Given the description of an element on the screen output the (x, y) to click on. 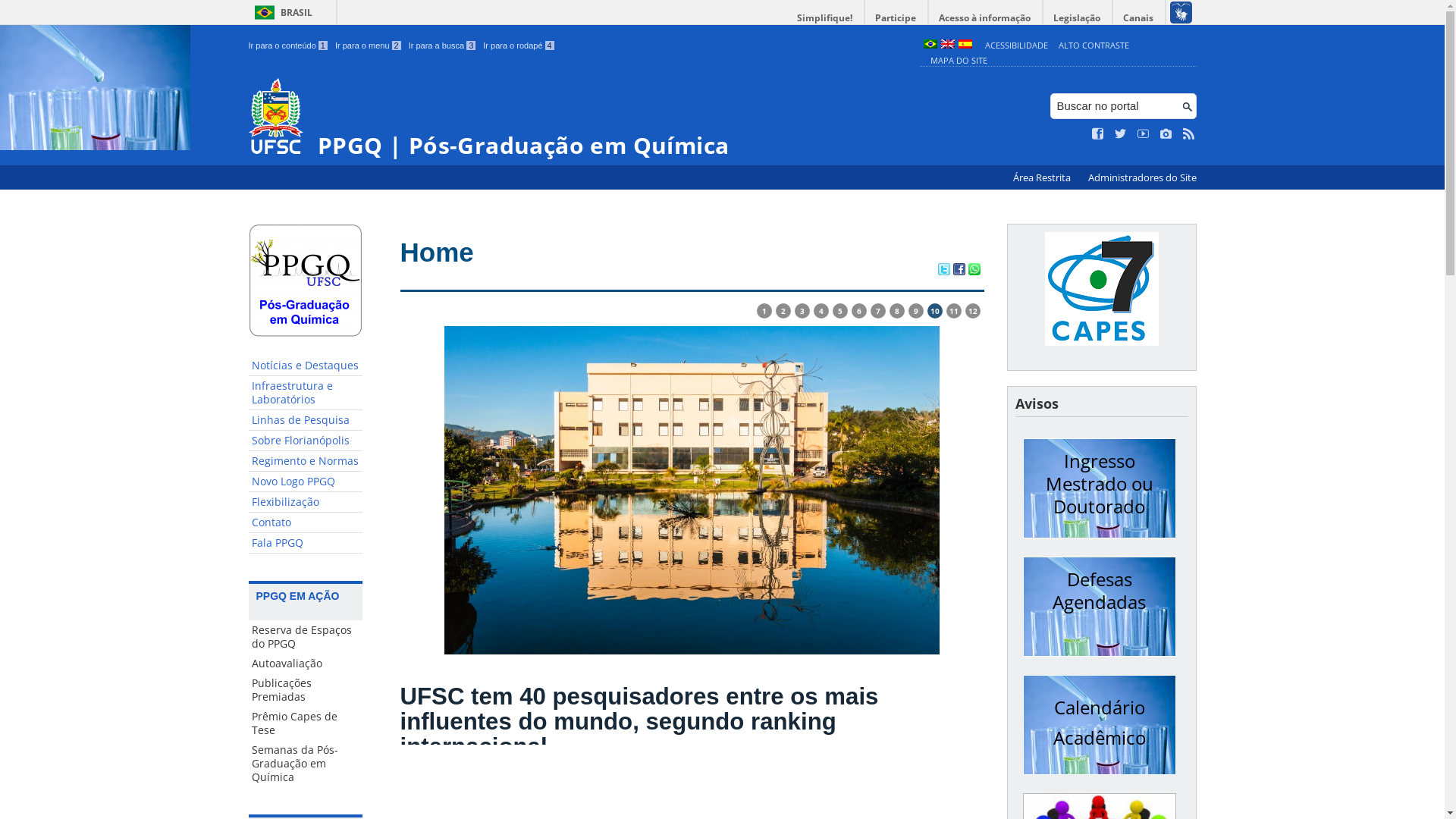
English (en) Element type: hover (946, 44)
3 Element type: text (801, 310)
Novo Logo PPGQ Element type: text (305, 481)
10 Element type: text (933, 310)
Simplifique! Element type: text (825, 18)
7 Element type: text (877, 310)
8 Element type: text (895, 310)
12 Element type: text (971, 310)
Administradores do Site Element type: text (1141, 177)
Compartilhar no WhatsApp Element type: hover (973, 270)
Siga no Twitter Element type: hover (1120, 134)
1 Element type: text (763, 310)
Veja no Instagram Element type: hover (1166, 134)
Compartilhar no Facebook Element type: hover (958, 270)
2 Element type: text (782, 310)
9 Element type: text (915, 310)
MAPA DO SITE Element type: text (957, 59)
Fala PPGQ Element type: text (305, 543)
Ir para a busca 3 Element type: text (442, 45)
Compartilhar no Twitter Element type: hover (943, 270)
4 Element type: text (820, 310)
Home Element type: text (436, 251)
Linhas de Pesquisa Element type: text (305, 420)
6 Element type: text (858, 310)
Ir para o menu 2 Element type: text (368, 45)
ACESSIBILIDADE Element type: text (1016, 44)
Curta no Facebook Element type: hover (1098, 134)
Contato Element type: text (305, 522)
Regimento e Normas Element type: text (305, 461)
ALTO CONTRASTE Element type: text (1093, 44)
Participe Element type: text (895, 18)
5 Element type: text (839, 310)
Canais Element type: text (1138, 18)
11 Element type: text (953, 310)
BRASIL Element type: text (280, 12)
